Given the description of an element on the screen output the (x, y) to click on. 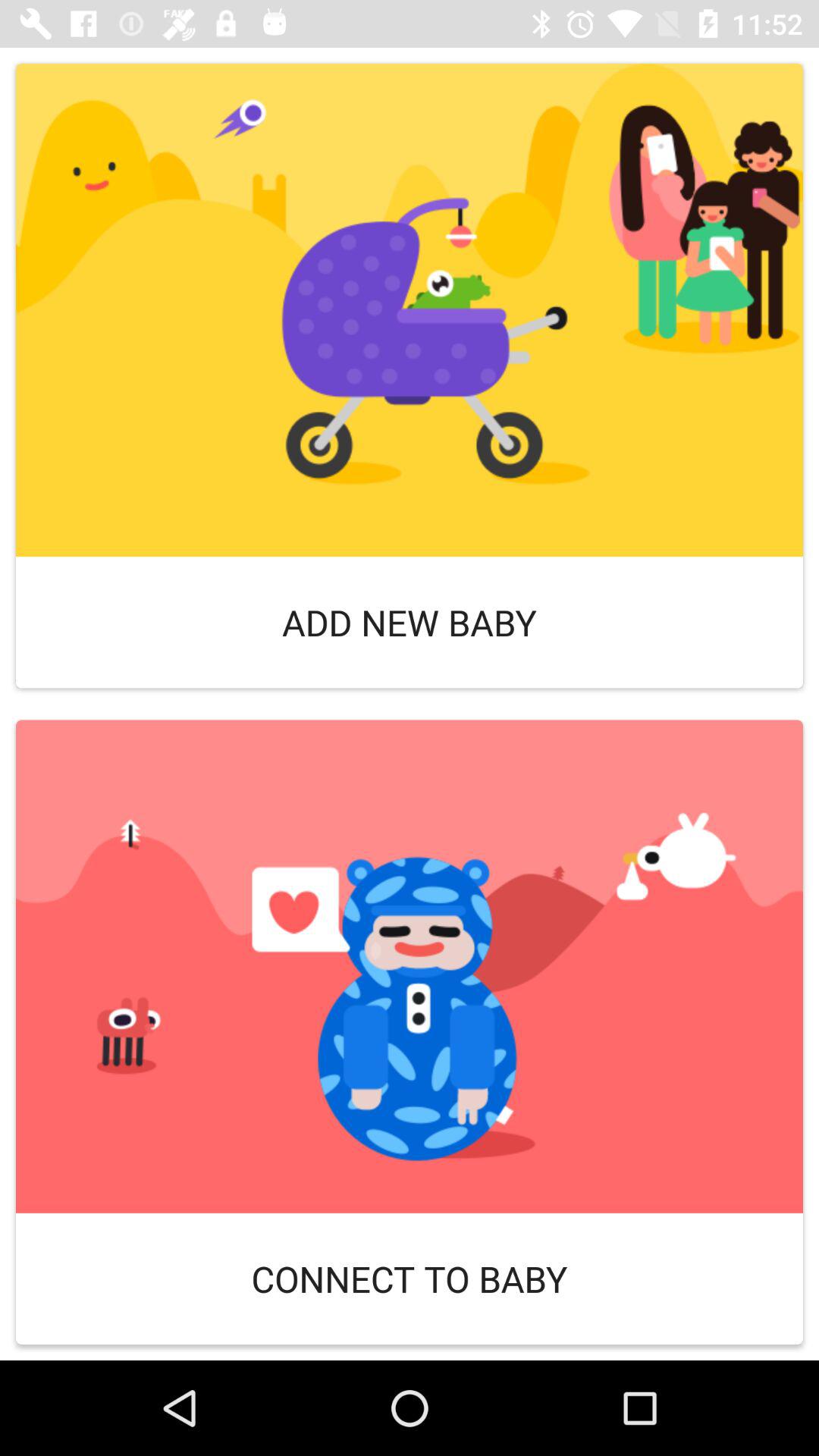
jump until the connect to baby item (409, 1278)
